Given the description of an element on the screen output the (x, y) to click on. 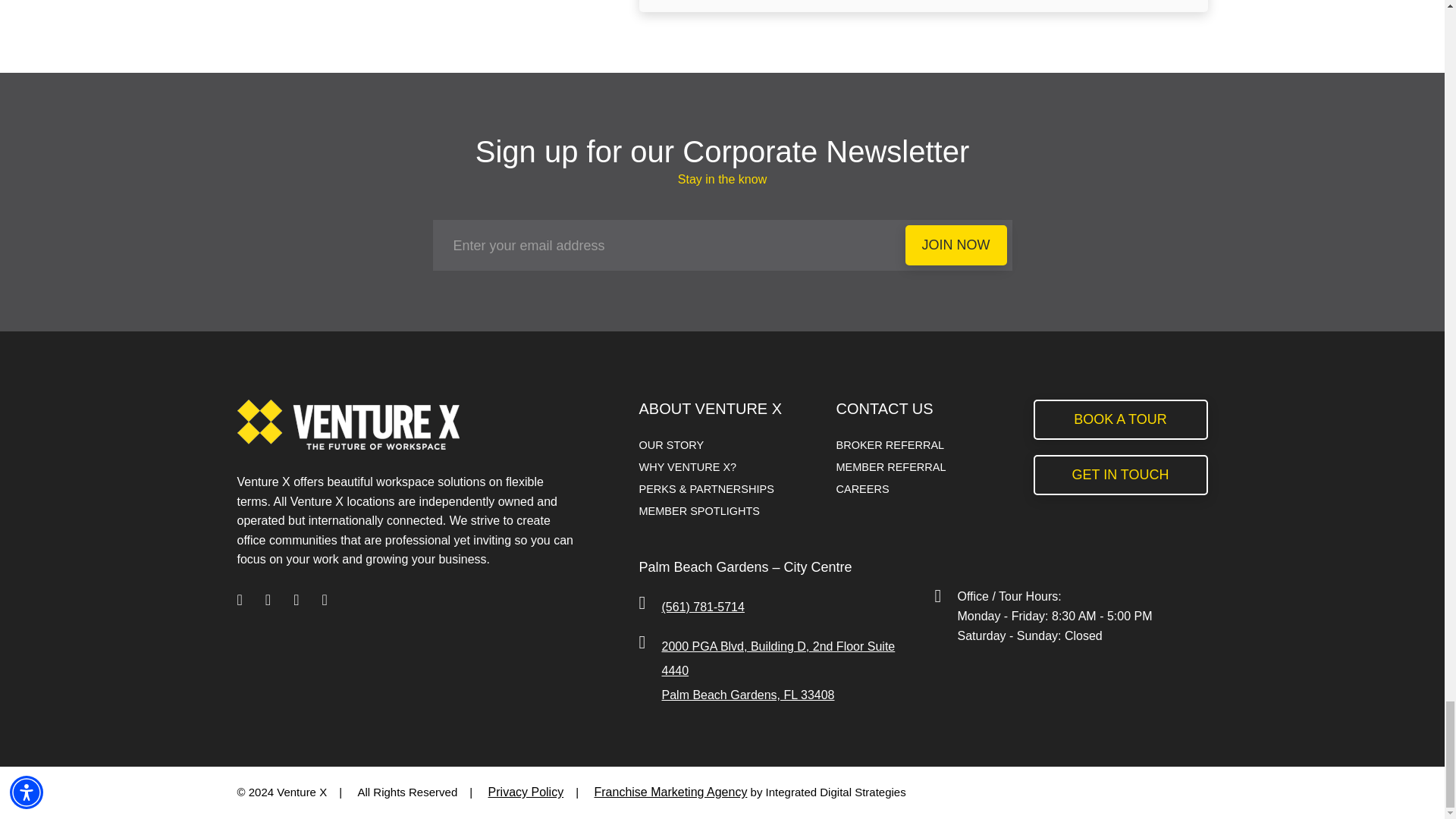
Join Now (956, 245)
